Given the description of an element on the screen output the (x, y) to click on. 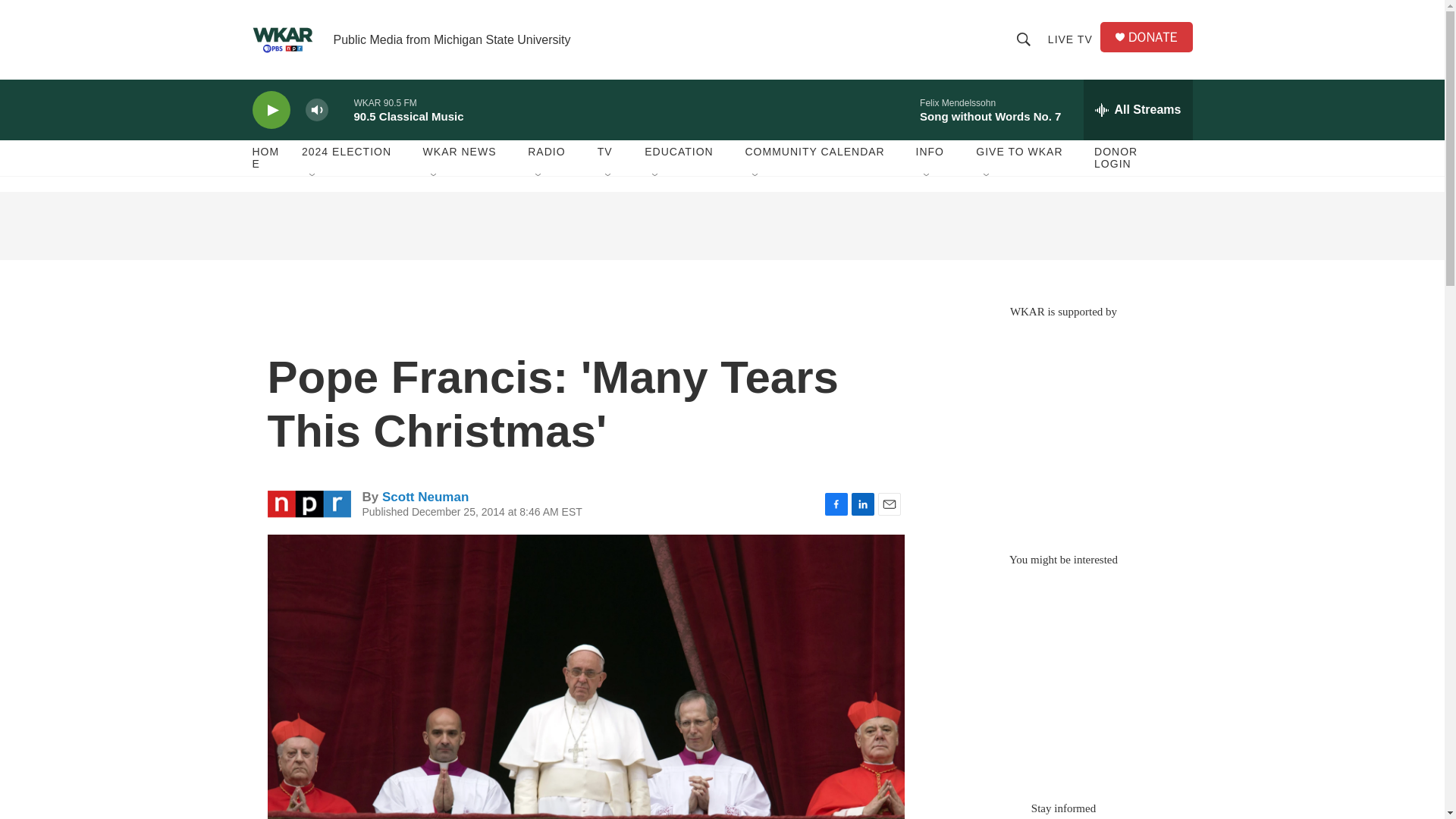
3rd party ad content (1062, 428)
3rd party ad content (1062, 677)
3rd party ad content (721, 225)
